Given the description of an element on the screen output the (x, y) to click on. 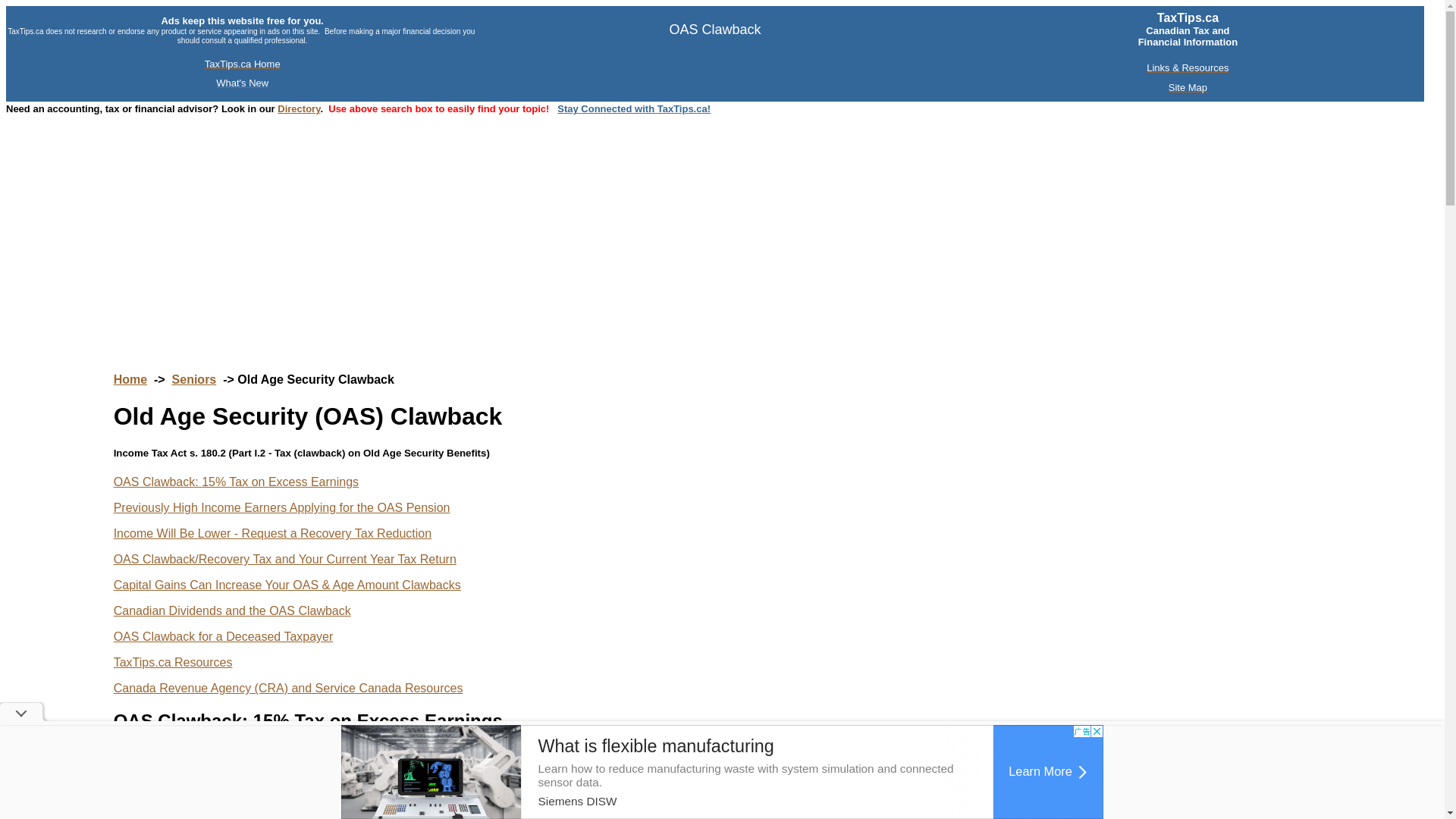
Income Will Be Lower - Request a Recovery Tax Reduction (271, 533)
OAS Clawback for a Deceased Taxpayer (223, 635)
Seniors (193, 379)
TaxTips.ca Resources (172, 662)
Advertisement (721, 771)
Site Map (1188, 87)
Canadian Dividends and the OAS Clawback (231, 610)
Directory (299, 108)
Stay Connected with TaxTips.ca! (633, 108)
Previously High Income Earners Applying for the OAS Pension (281, 507)
What's New (241, 82)
Home (130, 379)
TaxTips.ca Home (243, 63)
